Given the description of an element on the screen output the (x, y) to click on. 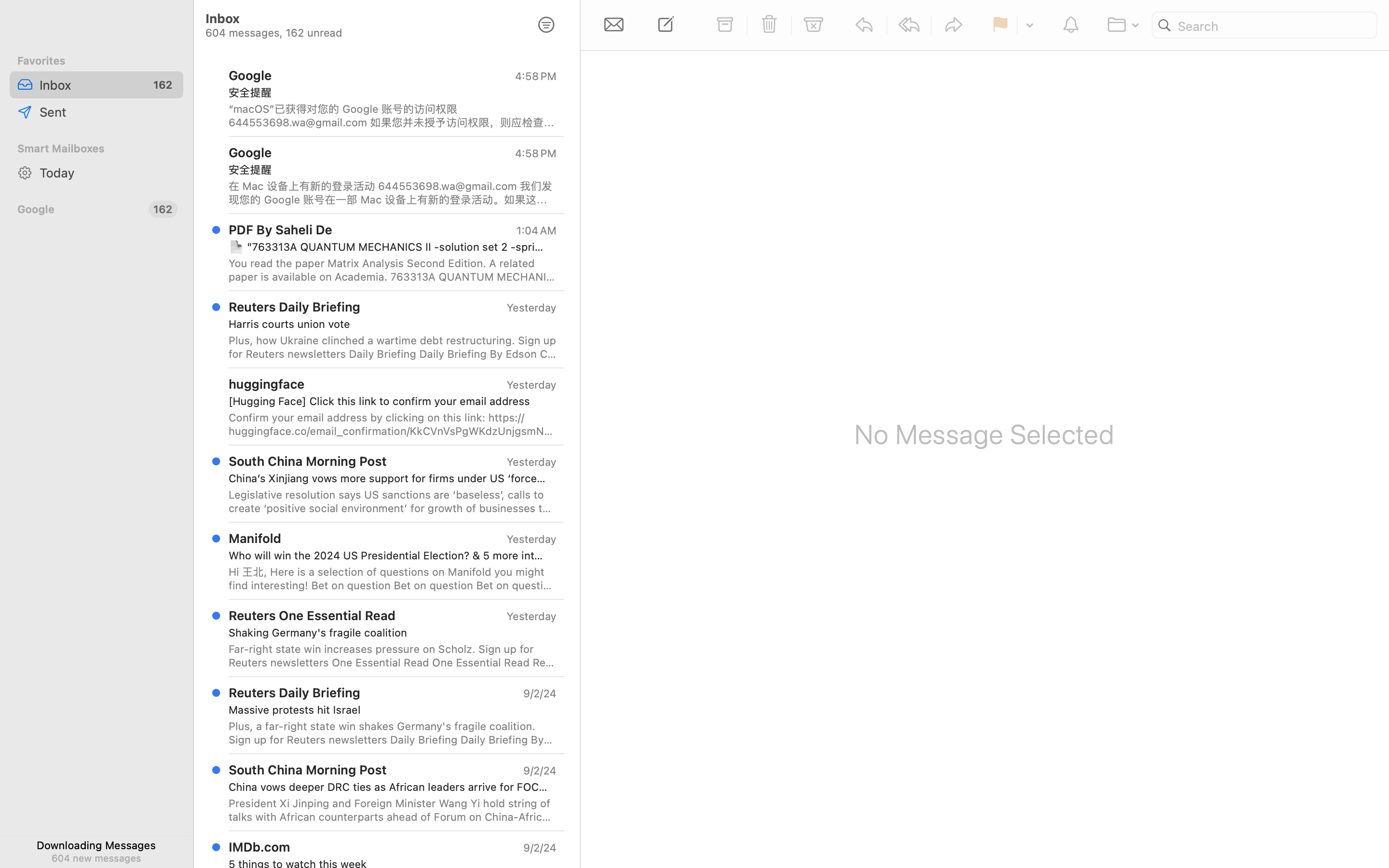
在 Mac 设备上有新的登录活动 644553698.wa@gmail.com 我们发现您的 Google 账号在一部 Mac 设备上有新的登录活动。如果这是您本人的操作，那么您无需采取任何行动。如果这不是您本人的操作，我们会帮助您保护您的账号。 查看活动 您也可以访问以下网址查看安全性活动： https://myaccount.google.com/notifications 我们向您发送这封电子邮件，目的是让您了解关于您的 Google 账号和服务的重大变化。 © 2024 Google LLC, 1600 Amphitheatre Parkway, Mountain View, CA 94043, USA Element type: AXStaticText (392, 192)
You read the paper Matrix Analysis Second Edition. A related paper is available on Academia. 763313A QUANTUM MECHANICS II -solution set 2 -spring 2014 Saheli De 237 Views View PDF ▸ Download PDF ⬇ Your recent reading history: Matrix Analysis Second Edition - Benedict Cui Want fewer recommendations like this one? 580 California St., Suite 400, San Francisco, CA, 94104 Unsubscribe Privacy Policy Terms of Service © 2024 Academia Element type: AXStaticText (392, 269)
South China Morning Post Element type: AXStaticText (307, 460)
Favorites Element type: AXStaticText (96, 60)
0.0 Element type: AXValueIndicator (573, 63)
